Given the description of an element on the screen output the (x, y) to click on. 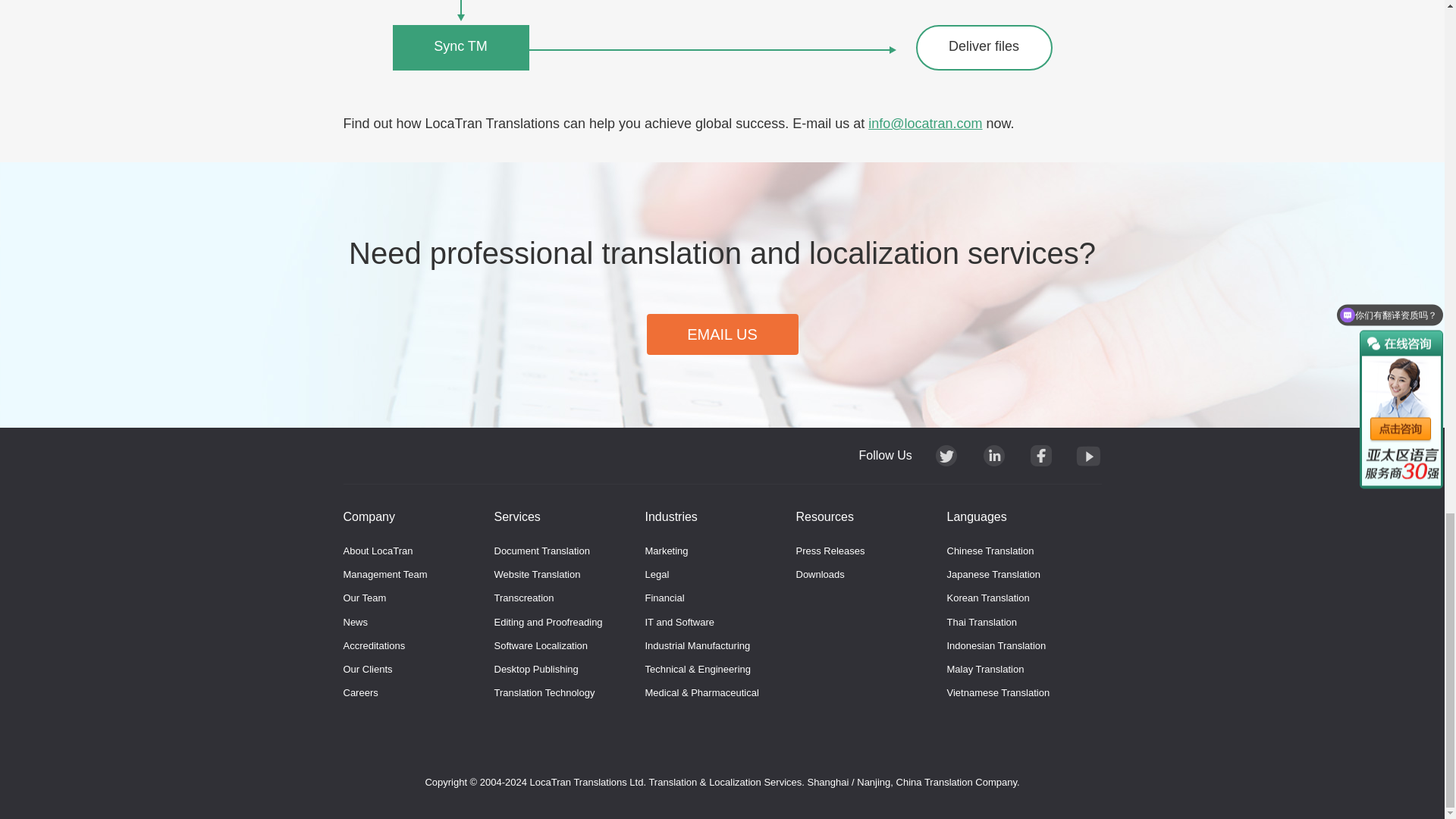
Facebook (1040, 455)
Our Team (363, 597)
Linkedin (994, 455)
Careers (359, 692)
EMAIL US (721, 333)
Our Clients (366, 668)
News (355, 622)
Twitter (946, 455)
Youtube (1087, 455)
Management Team (384, 573)
